Given the description of an element on the screen output the (x, y) to click on. 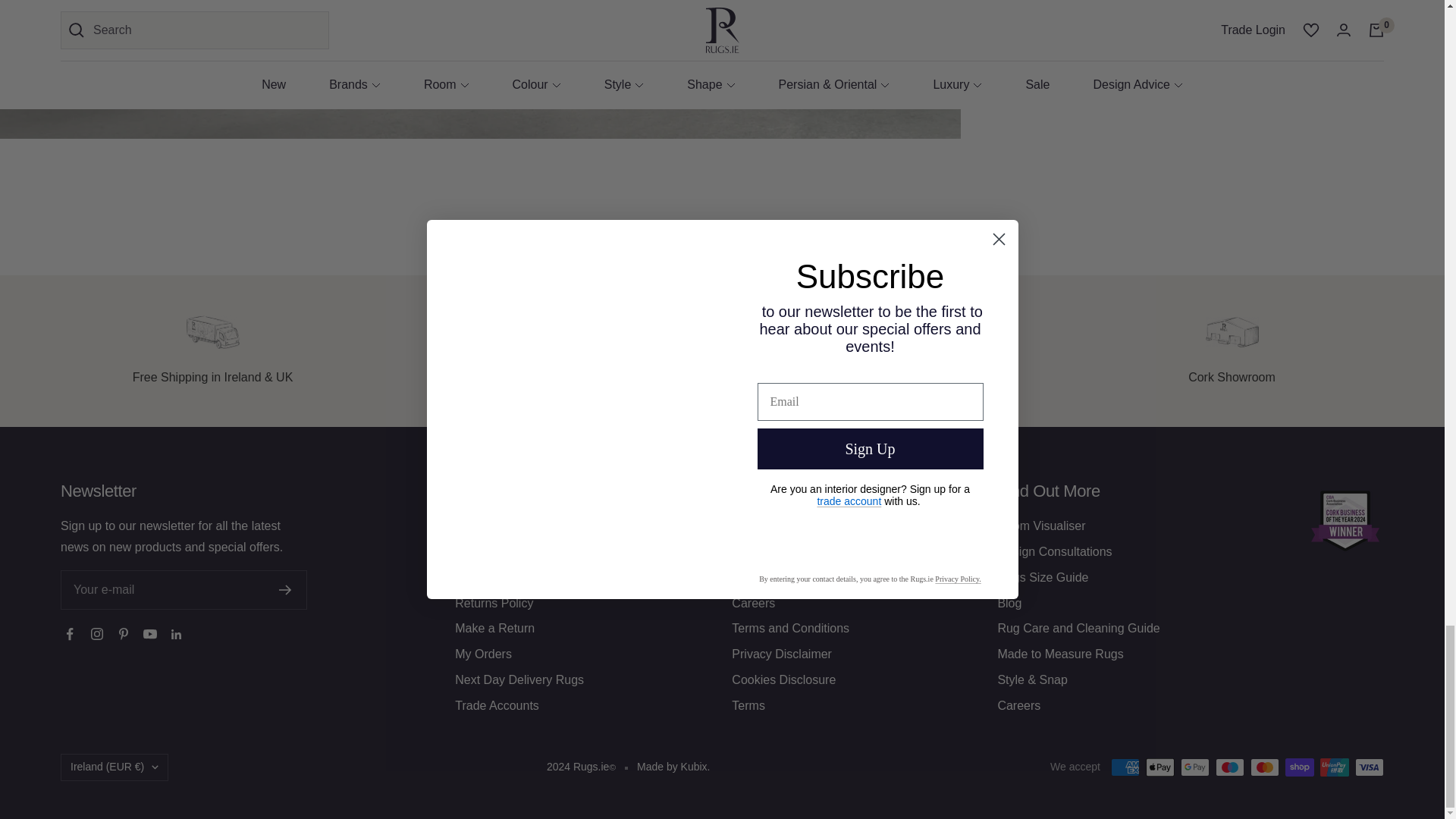
Register (285, 589)
